Given the description of an element on the screen output the (x, y) to click on. 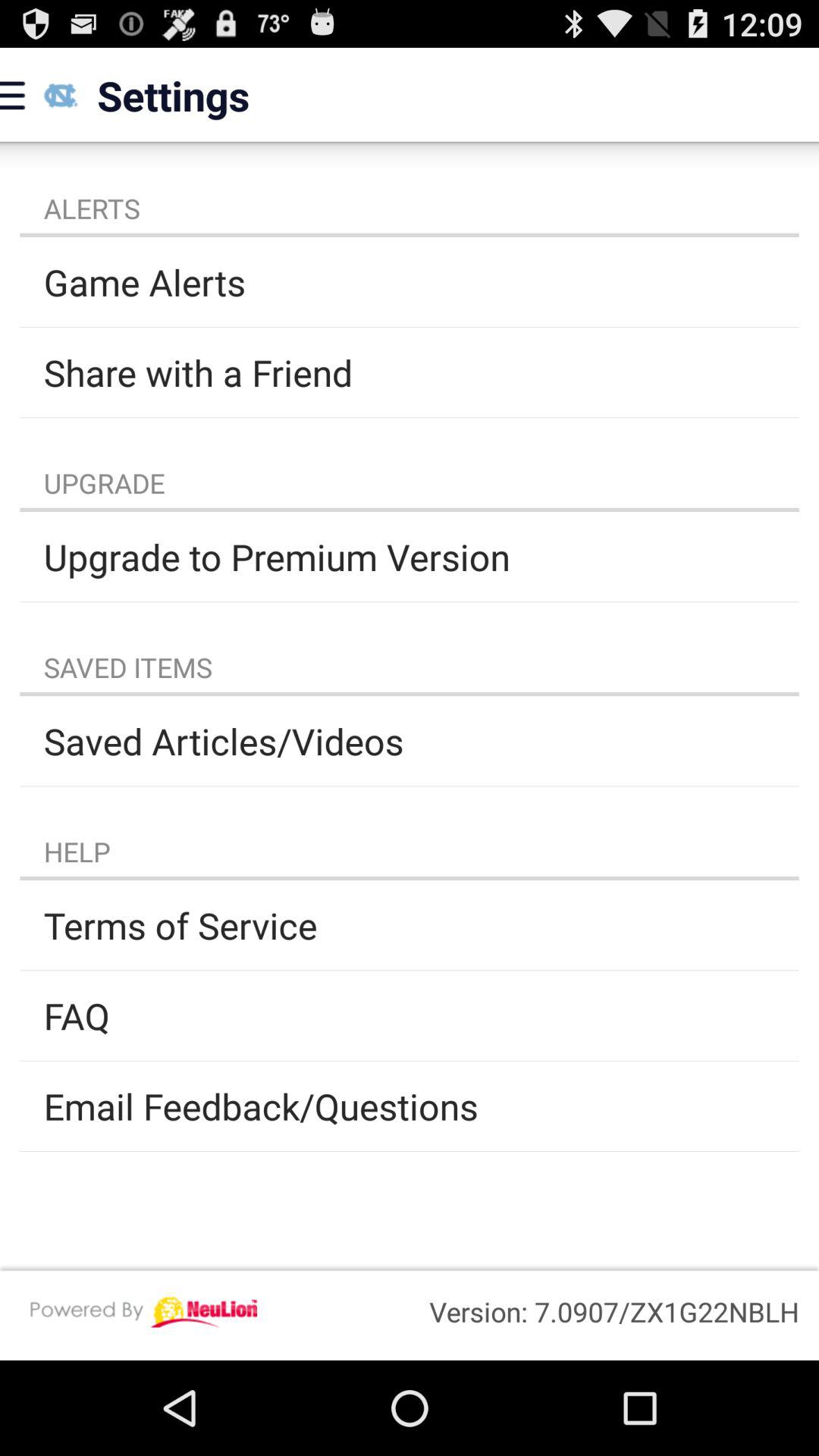
press app below the game alerts item (409, 372)
